Given the description of an element on the screen output the (x, y) to click on. 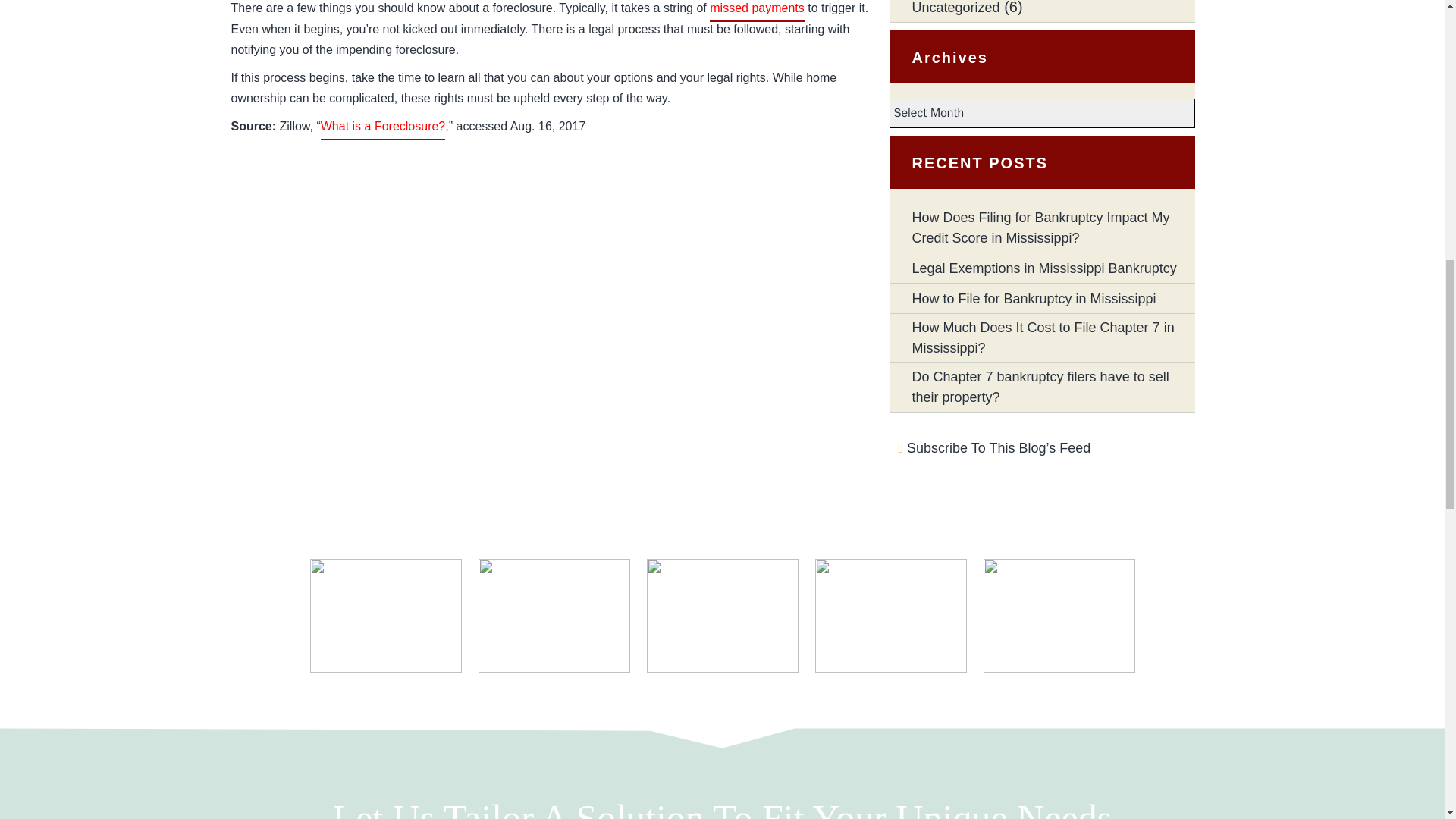
Do Chapter 7 bankruptcy filers have to sell their property? (1052, 387)
What is a Foreclosure? (382, 125)
Legal Exemptions in Mississippi Bankruptcy (1043, 268)
Uncategorized (954, 11)
How Much Does It Cost to File Chapter 7 in Mississippi? (1052, 337)
missed payments (757, 7)
How to File for Bankruptcy in Mississippi (1033, 298)
